Given the description of an element on the screen output the (x, y) to click on. 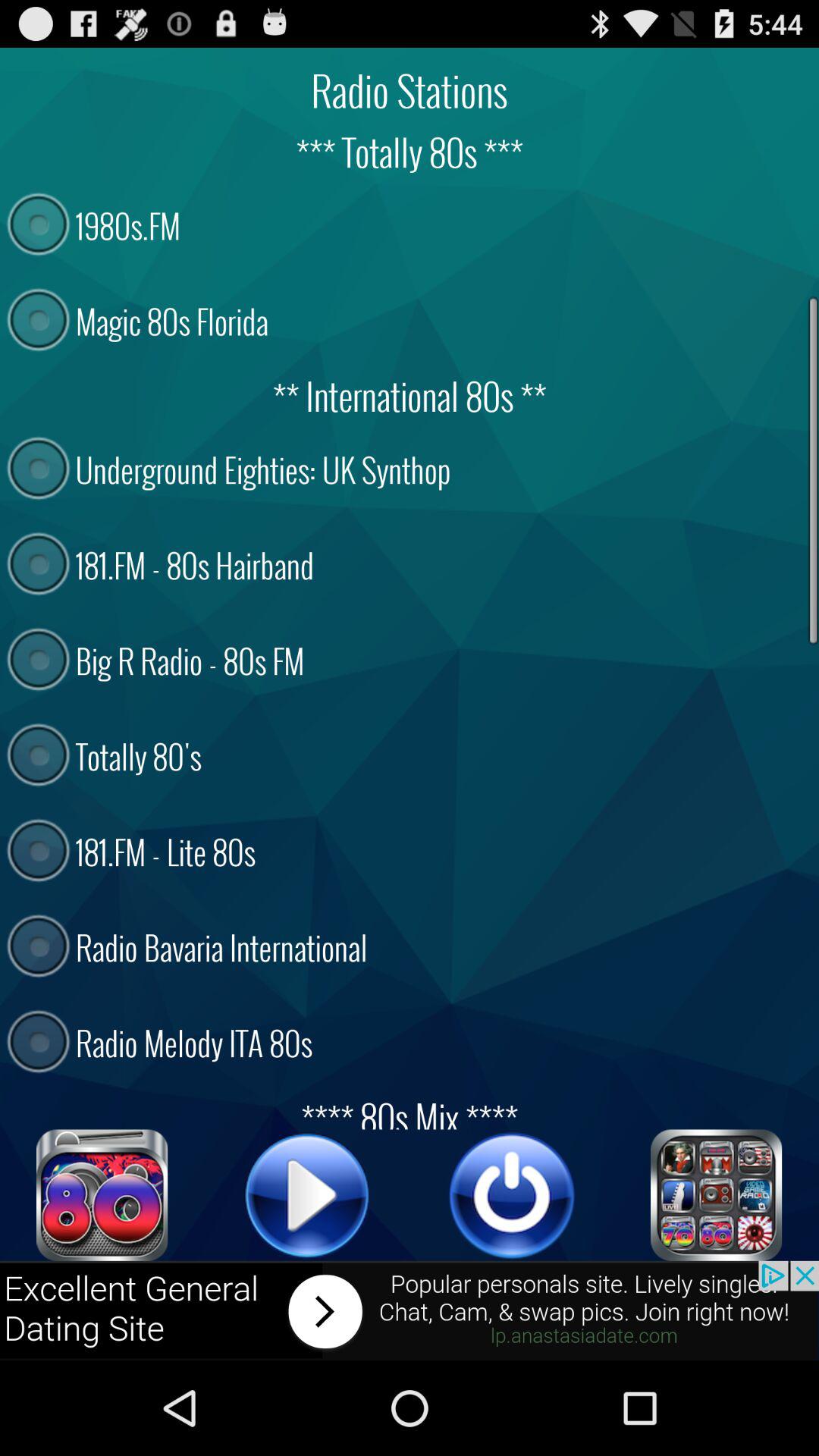
go to library (716, 1194)
